Given the description of an element on the screen output the (x, y) to click on. 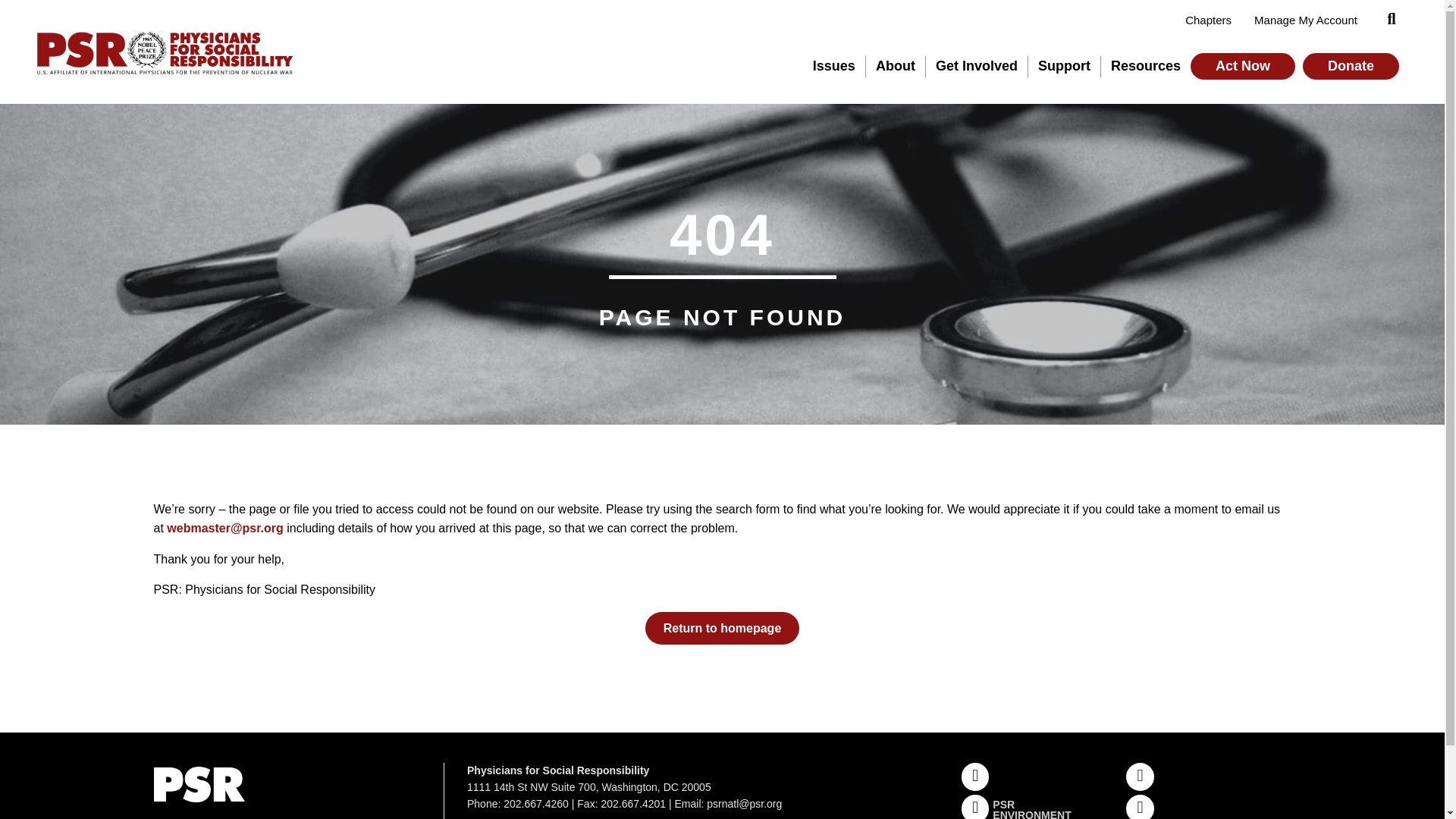
PSR Logo (162, 51)
Issues (834, 66)
Manage My Account (1305, 19)
instagram (1139, 776)
Chapters (1208, 19)
About (896, 66)
Twitter Environment (975, 806)
youtube (1139, 806)
Facebook (975, 776)
